Given the description of an element on the screen output the (x, y) to click on. 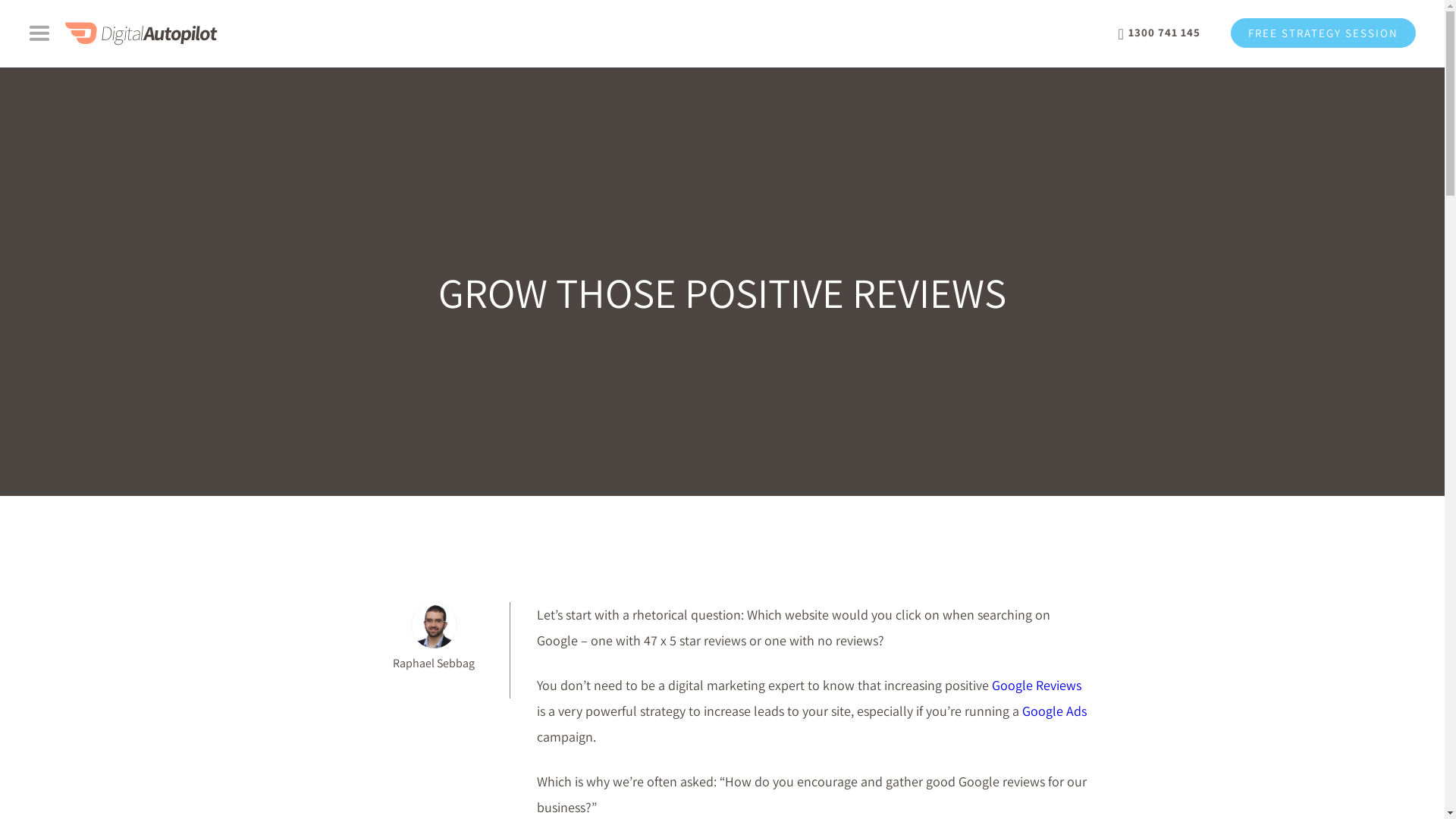
Google Ads Element type: text (1054, 710)
Google Reviews Element type: text (1036, 684)
1300 741 145 Element type: text (1159, 33)
FREE STRATEGY SESSION Element type: text (1322, 32)
